Given the description of an element on the screen output the (x, y) to click on. 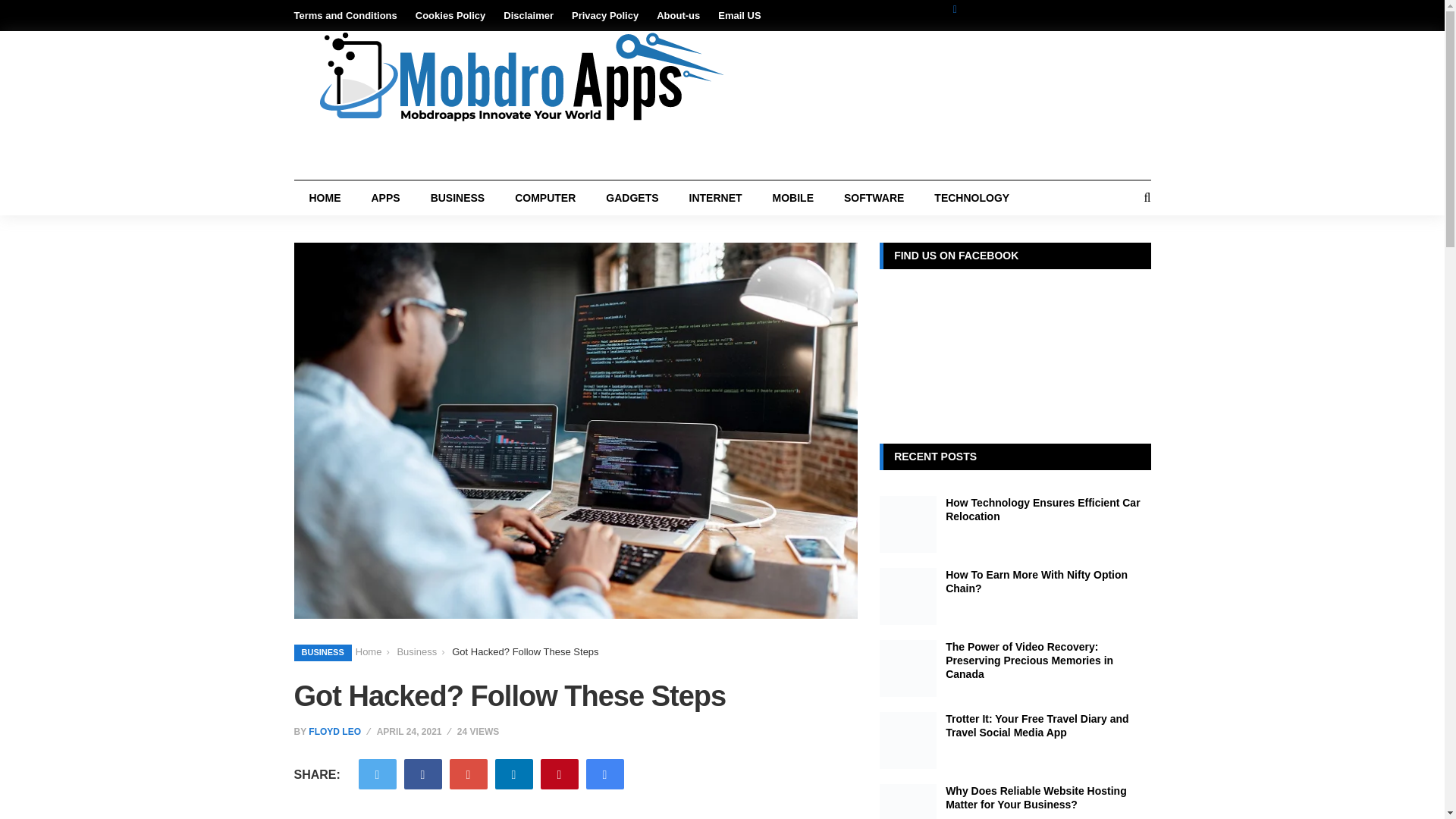
TECHNOLOGY (971, 197)
Email US (738, 15)
Cookies Policy (449, 15)
Saturday, April 24, 2021, 11:30 am (415, 731)
Disclaimer (528, 15)
BUSINESS (457, 197)
APPS (385, 197)
Home (368, 651)
MOBILE (792, 197)
